Given the description of an element on the screen output the (x, y) to click on. 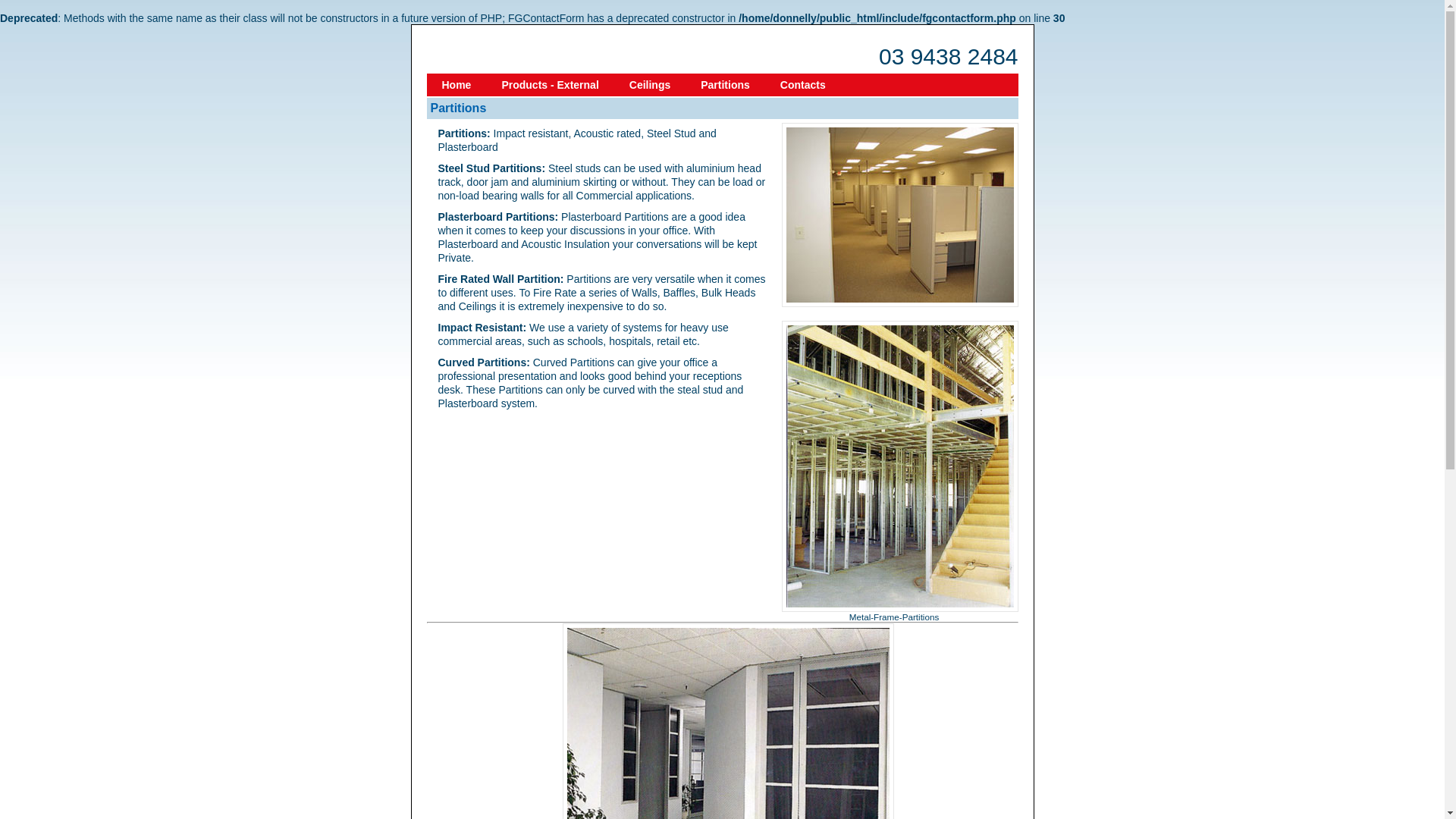
Partitions Element type: text (724, 84)
Products - External Element type: text (549, 84)
Home Element type: text (455, 84)
Ceilings Element type: text (649, 84)
Contacts Element type: text (802, 84)
